Given the description of an element on the screen output the (x, y) to click on. 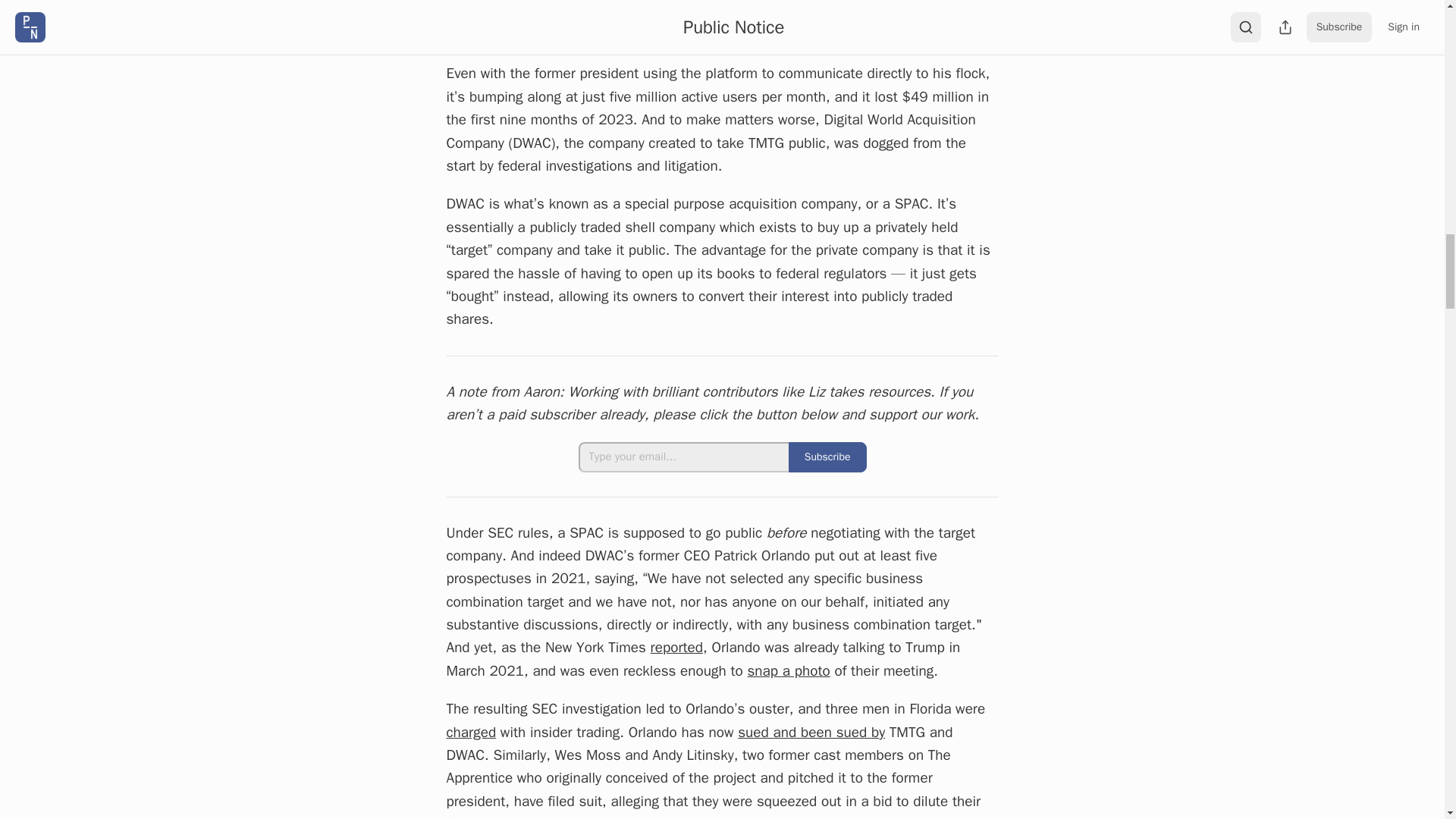
reported (676, 647)
snap a photo (787, 670)
Subscribe (827, 457)
